Given the description of an element on the screen output the (x, y) to click on. 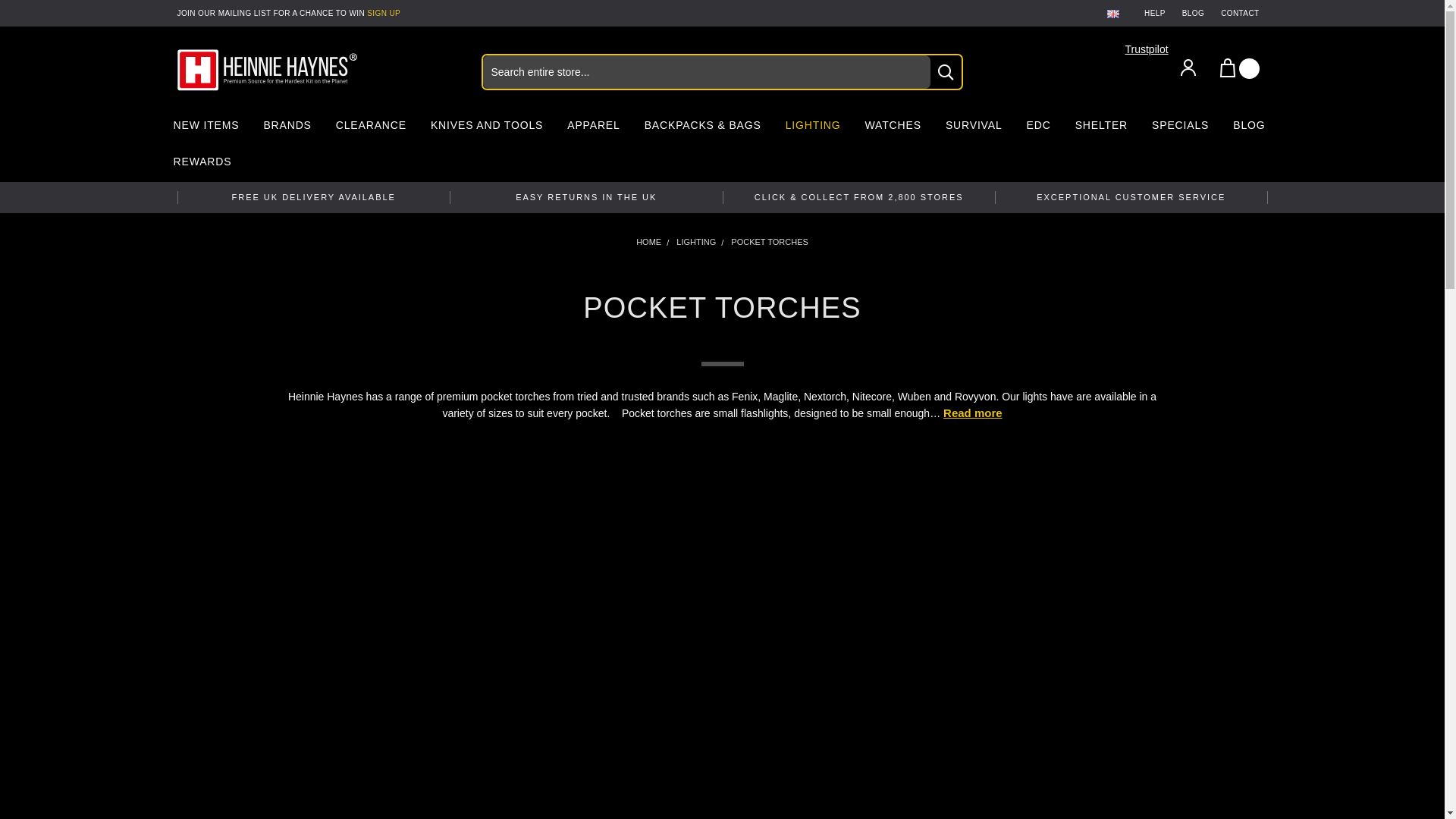
My Account (1188, 67)
Search (945, 71)
Trustpilot (1147, 49)
NEW ITEMS (205, 126)
HELP (1154, 13)
SIGN UP (383, 13)
BRANDS (286, 126)
BLOG (1192, 13)
KNIVES AND TOOLS (486, 126)
CONTACT (1239, 13)
